Given the description of an element on the screen output the (x, y) to click on. 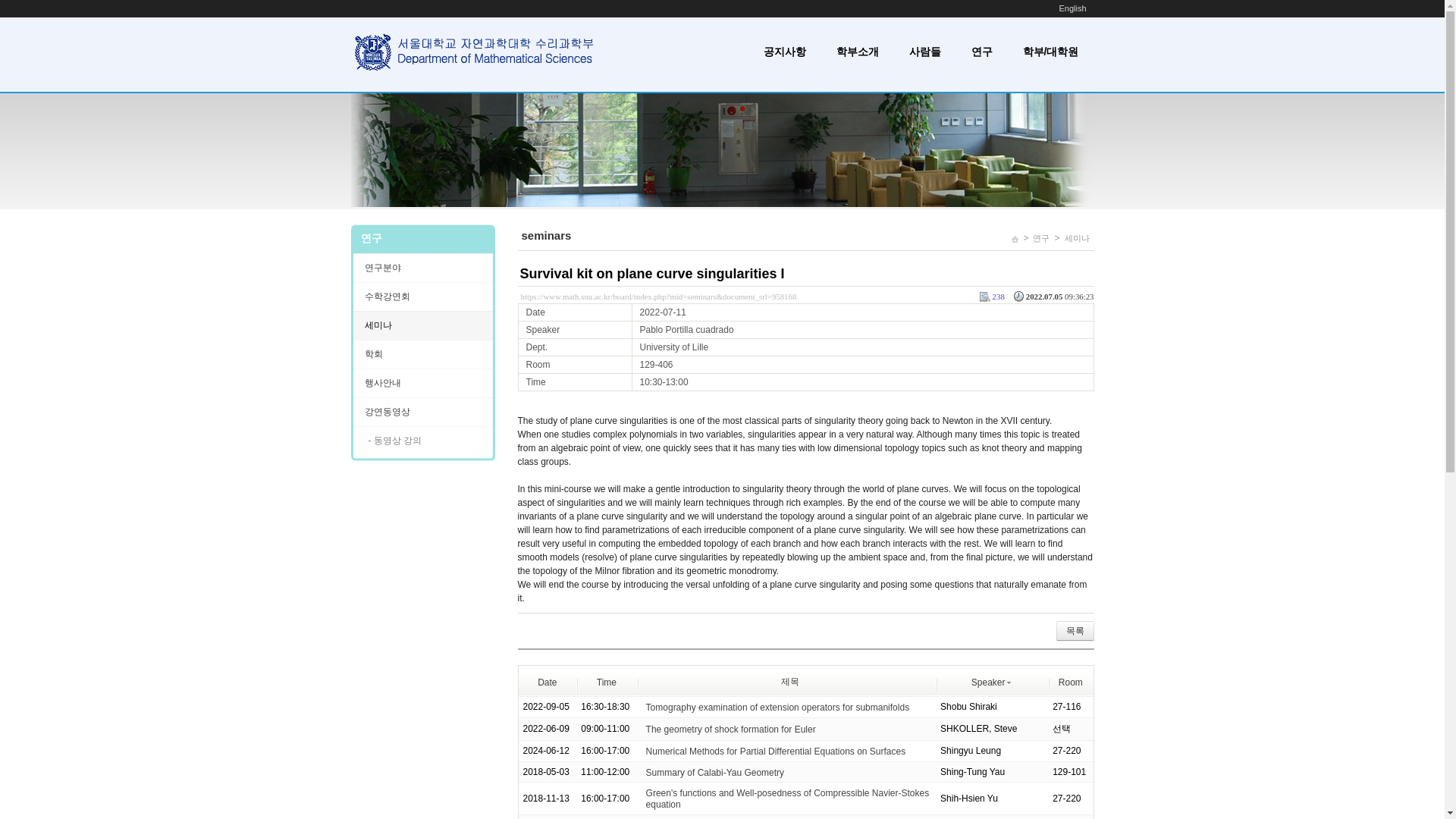
Date (546, 681)
Survival kit on plane curve singularities I (651, 273)
The geometry of shock formation for Euler (730, 728)
English (1072, 8)
Summary of Calabi-Yau Geometry (715, 771)
Speaker (991, 681)
Room (1070, 681)
Time (605, 681)
